Given the description of an element on the screen output the (x, y) to click on. 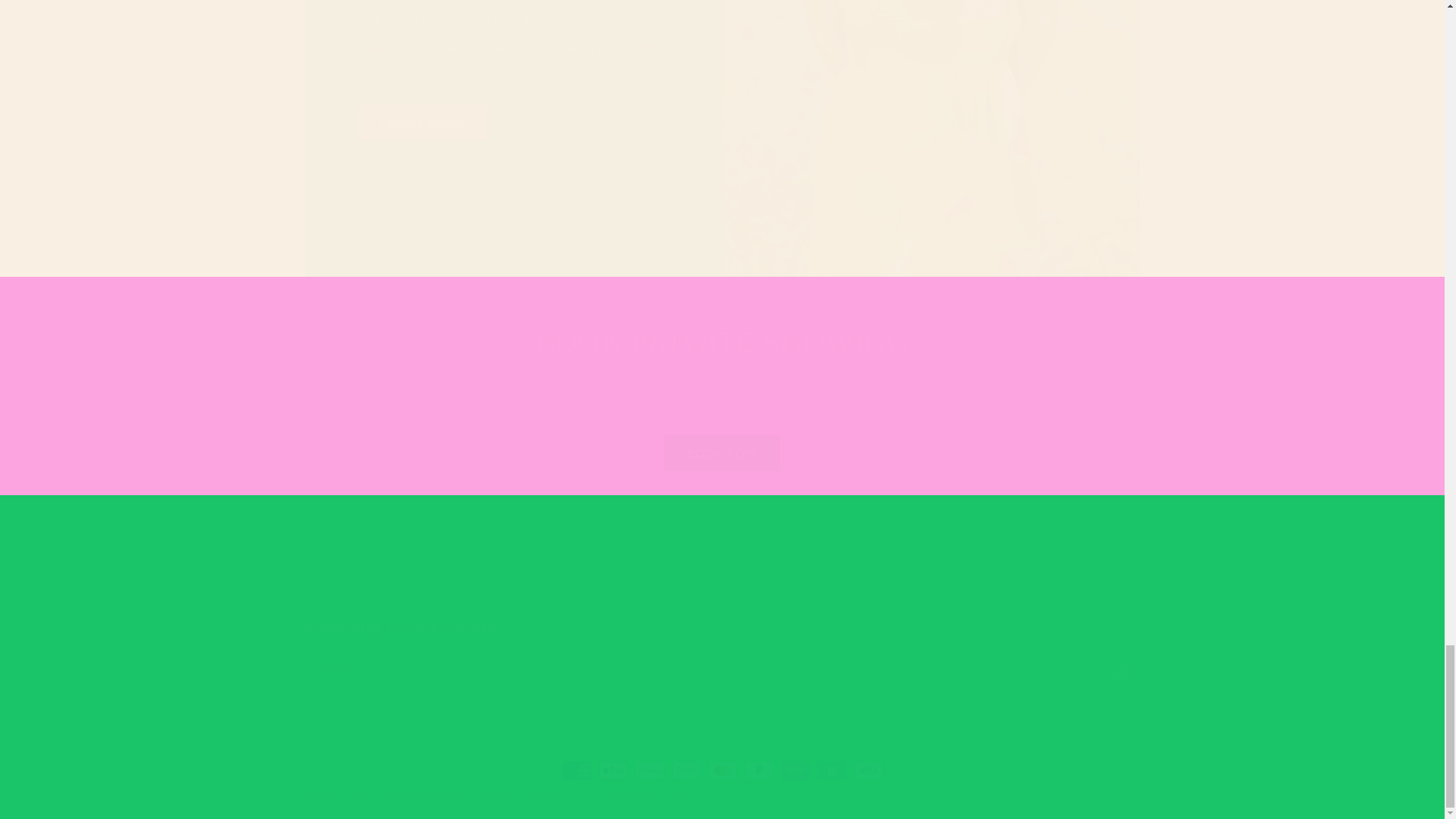
BOOK NOW (722, 452)
BOOK PRIVATE SHOWING (721, 567)
